Given the description of an element on the screen output the (x, y) to click on. 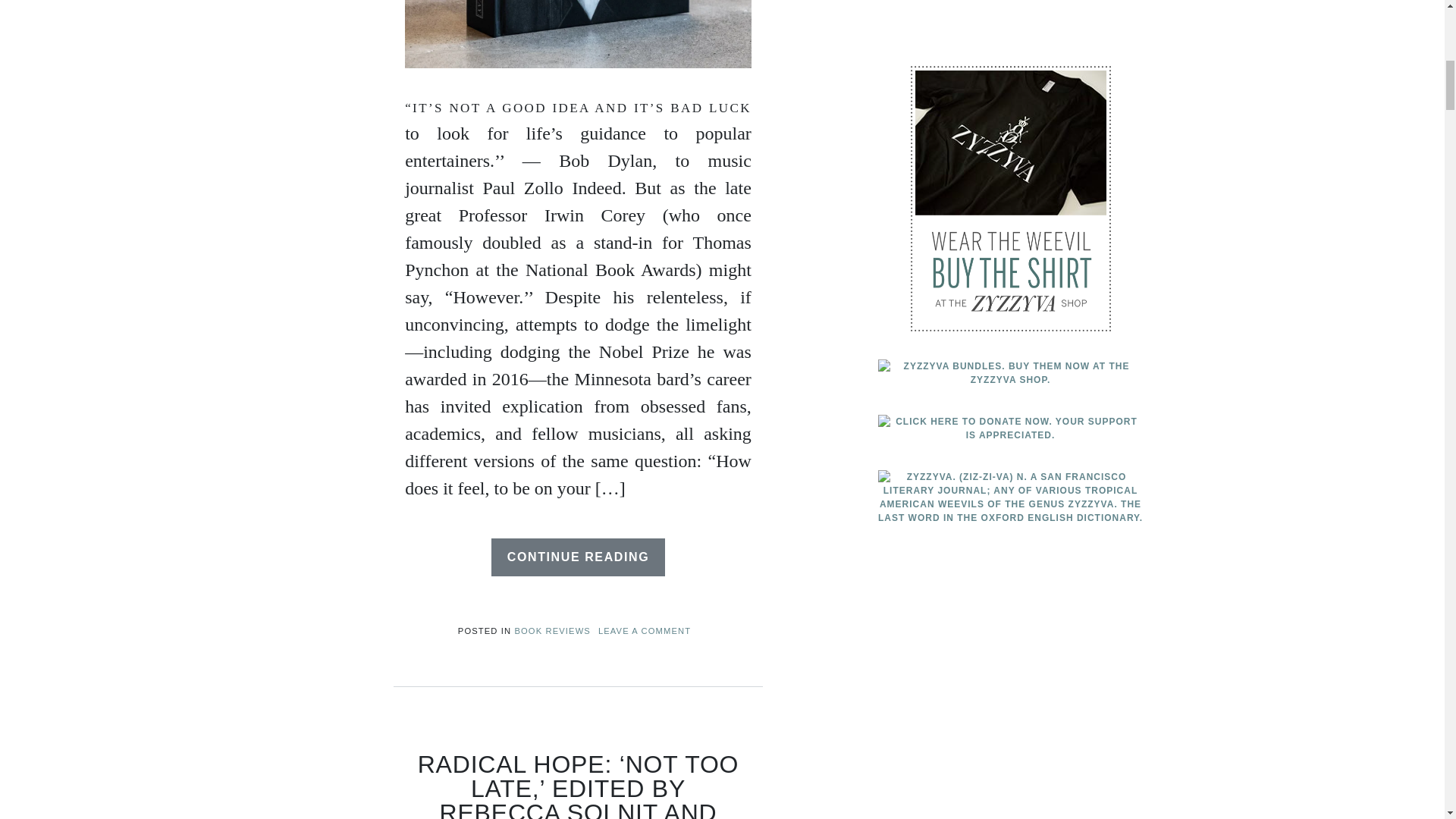
BOOK REVIEWS (551, 630)
CONTINUE READING (578, 557)
LEAVE A COMMENT (644, 630)
